Given the description of an element on the screen output the (x, y) to click on. 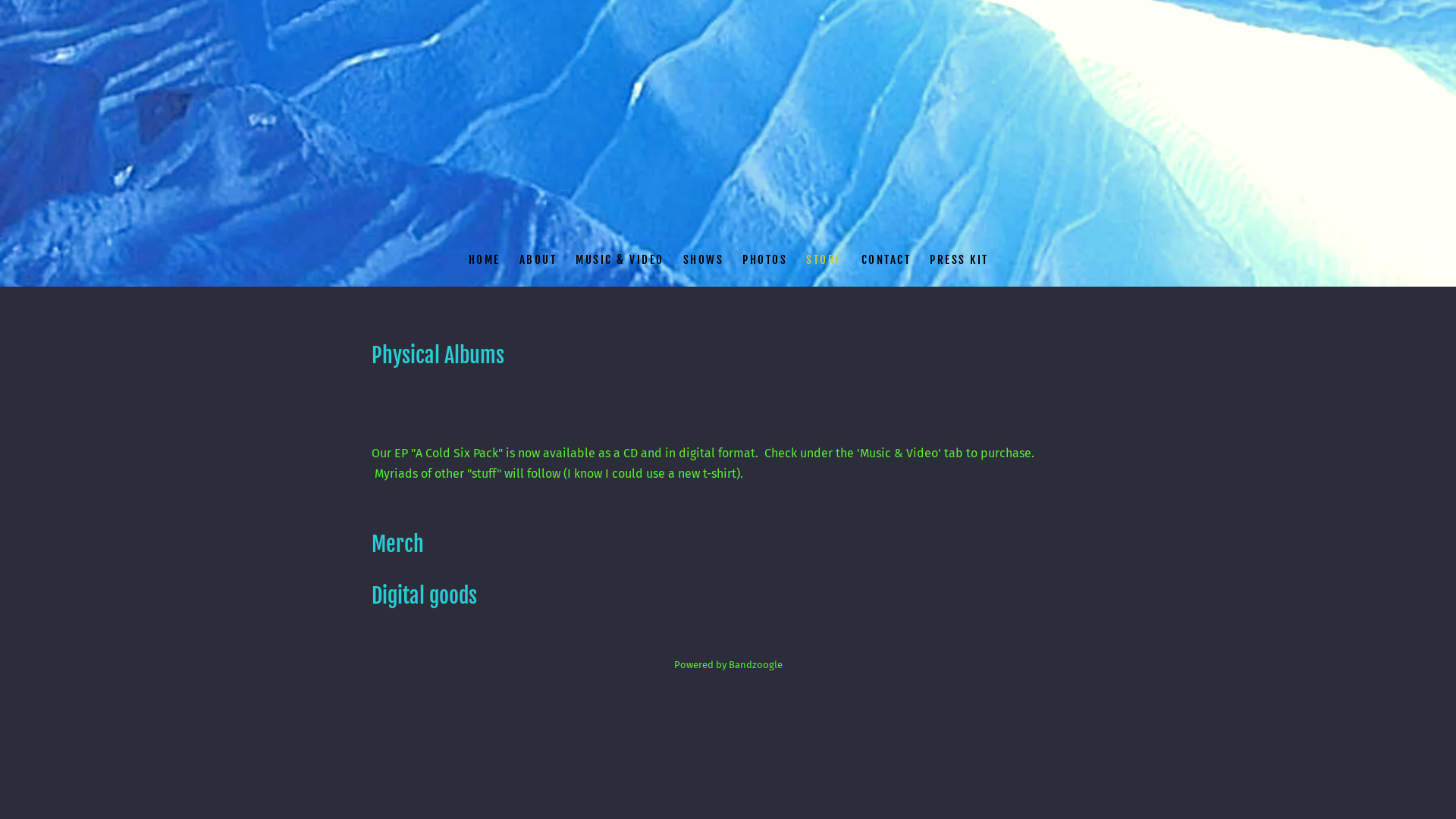
PRESS KIT Element type: text (958, 259)
Powered by Bandzoogle Element type: text (727, 664)
STORE Element type: text (823, 259)
MUSIC & VIDEO Element type: text (619, 259)
PHOTOS Element type: text (764, 259)
SHOWS Element type: text (702, 259)
CONTACT Element type: text (885, 259)
HOME Element type: text (483, 259)
ABOUT Element type: text (536, 259)
